Given the description of an element on the screen output the (x, y) to click on. 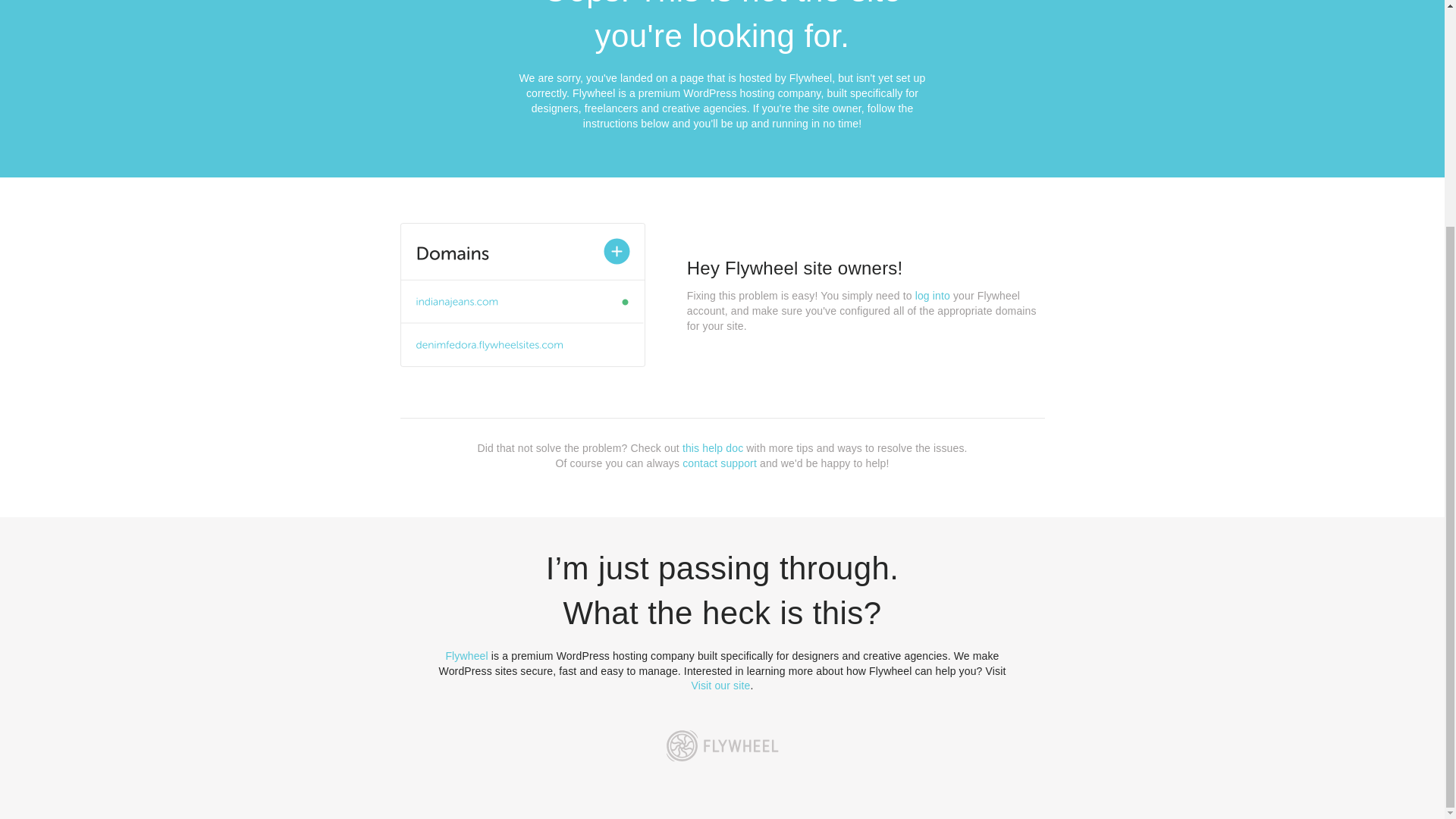
Flywheel (466, 655)
contact support (719, 463)
Visit our site (721, 685)
this help doc (712, 448)
log into (932, 295)
